Given the description of an element on the screen output the (x, y) to click on. 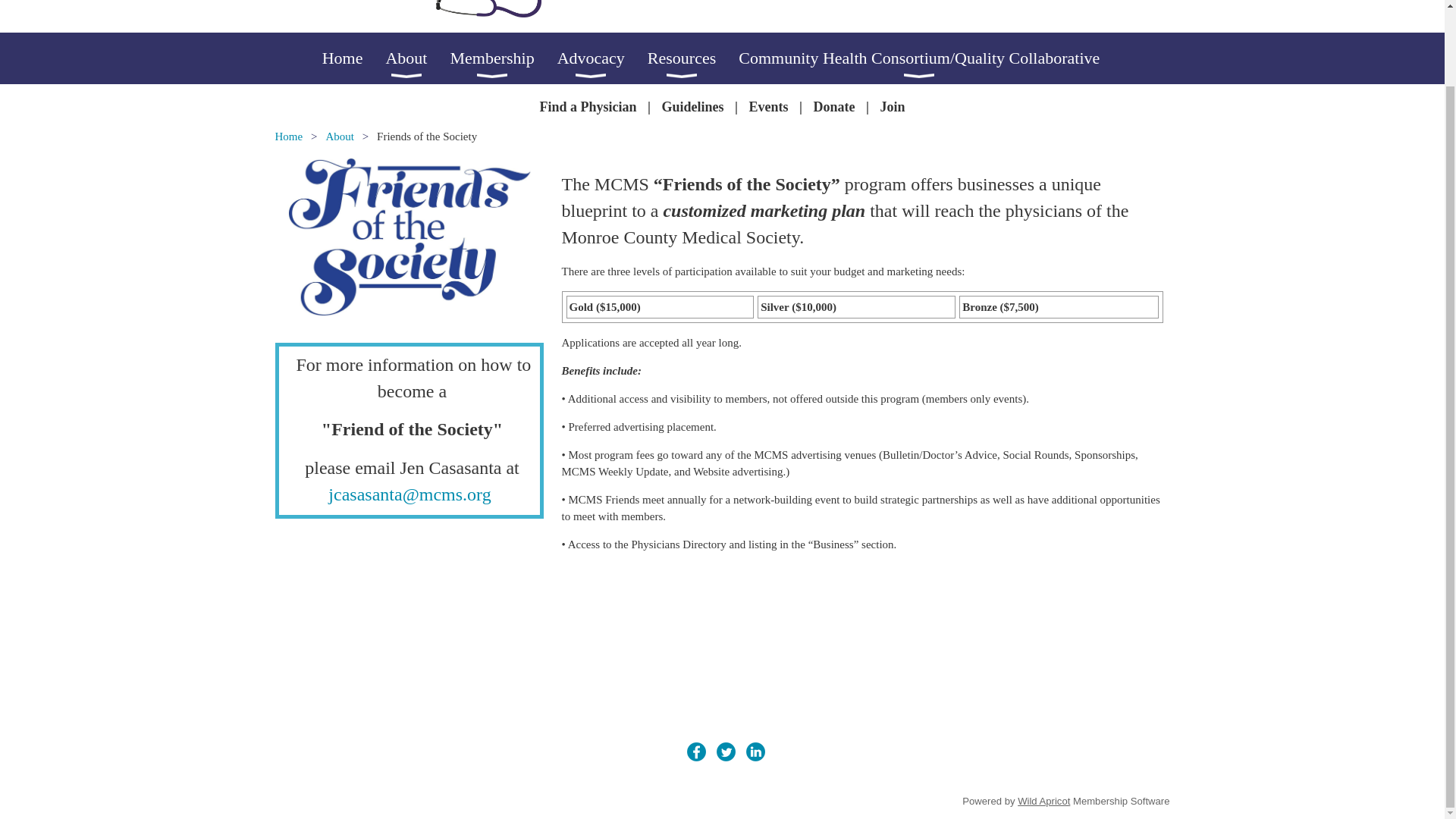
Advocacy (602, 58)
About (417, 58)
Home (353, 58)
Membership (502, 58)
About (417, 58)
Resources (692, 58)
Membership (502, 58)
Home (353, 58)
